Given the description of an element on the screen output the (x, y) to click on. 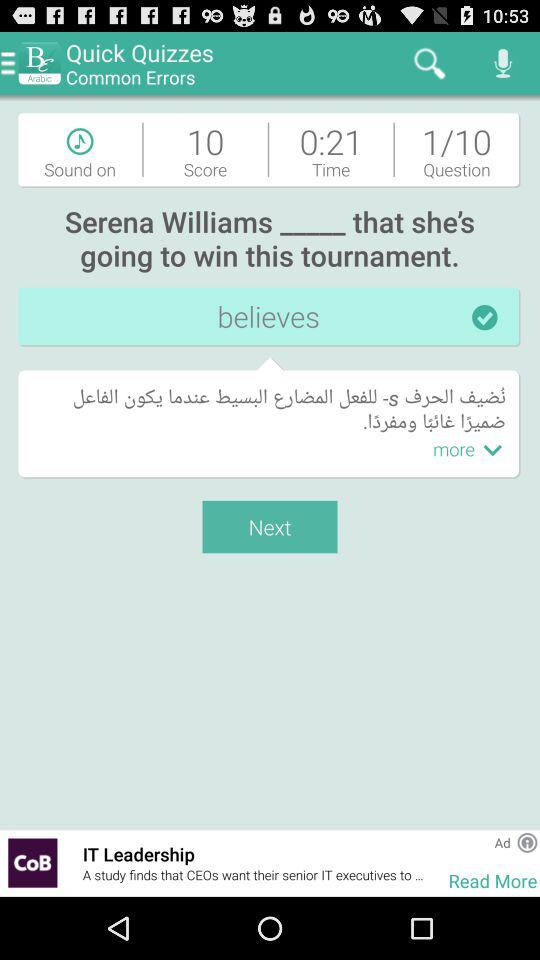
turn on the icon below the more icon (436, 862)
